Given the description of an element on the screen output the (x, y) to click on. 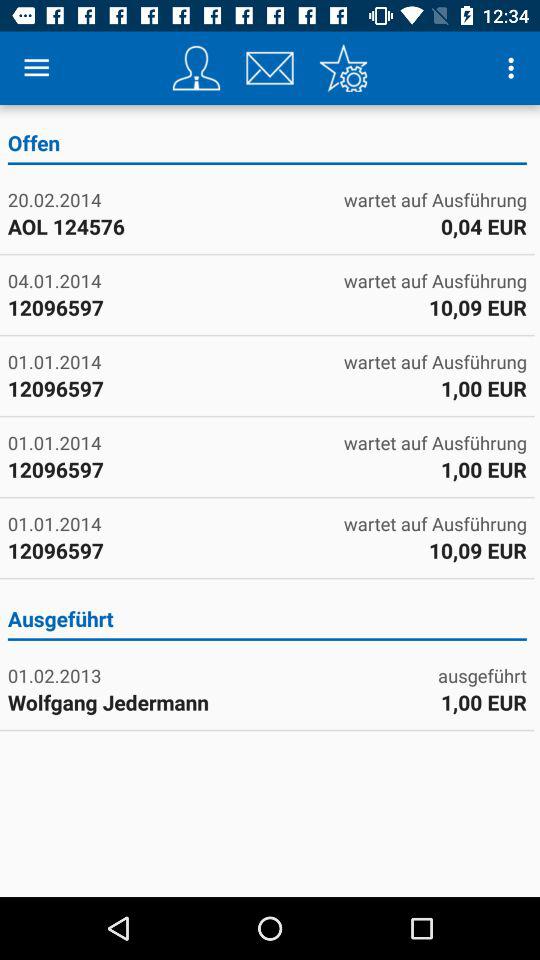
select the wolfgang jedermann item (135, 702)
